Given the description of an element on the screen output the (x, y) to click on. 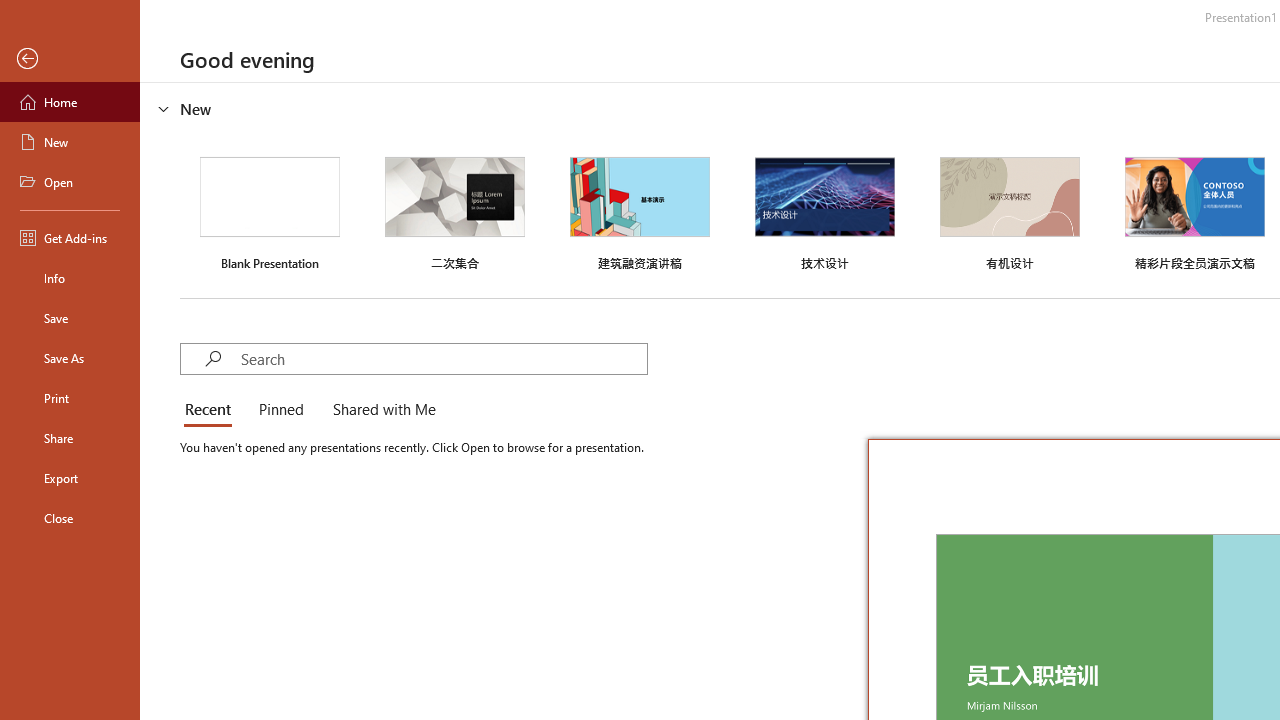
Print (69, 398)
New (69, 141)
Pinned (280, 410)
Blank Presentation (269, 211)
Export (69, 477)
Save As (69, 357)
